Given the description of an element on the screen output the (x, y) to click on. 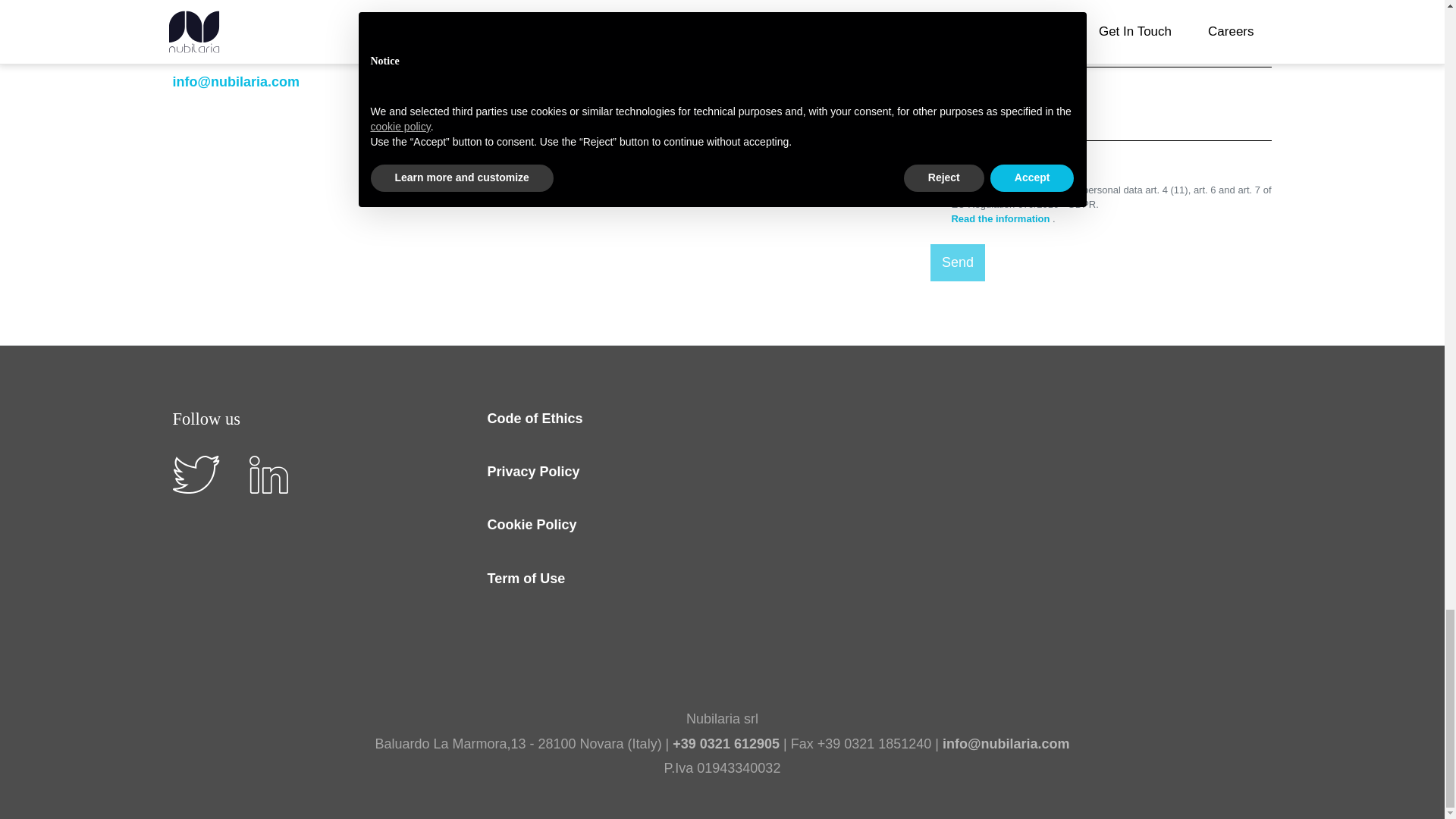
Privacy Policy (532, 471)
Read the information (1001, 218)
Send (957, 262)
Term of Use (525, 578)
Cookie Policy (531, 524)
Code of Ethics (534, 418)
